Given the description of an element on the screen output the (x, y) to click on. 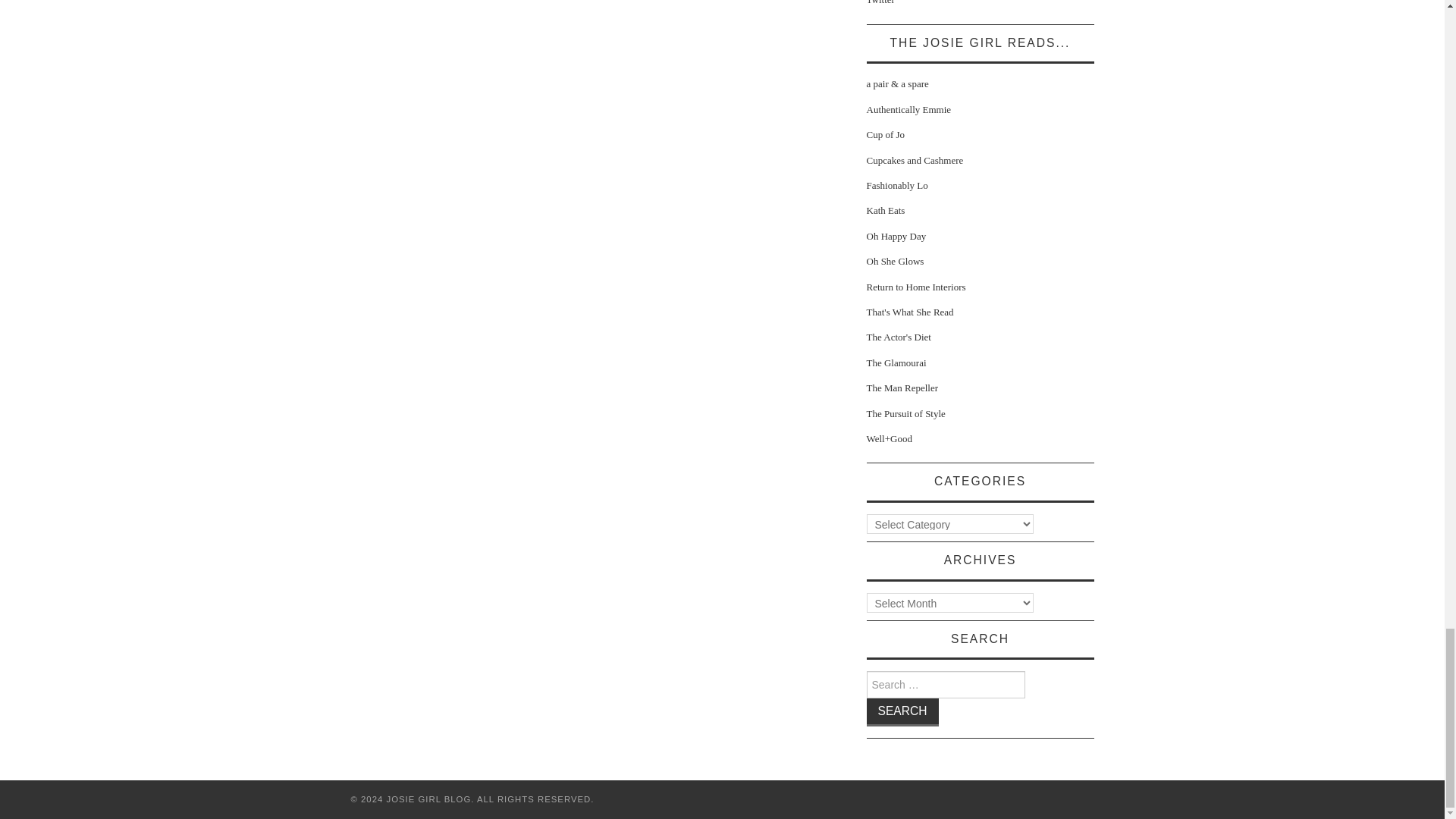
Search (901, 712)
Search (901, 712)
